Given the description of an element on the screen output the (x, y) to click on. 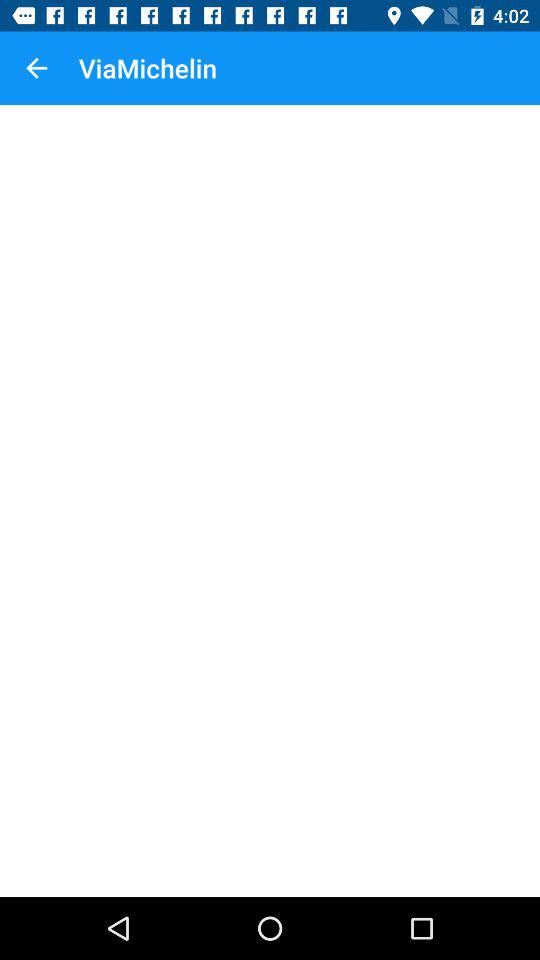
turn on item next to viamichelin icon (36, 68)
